Given the description of an element on the screen output the (x, y) to click on. 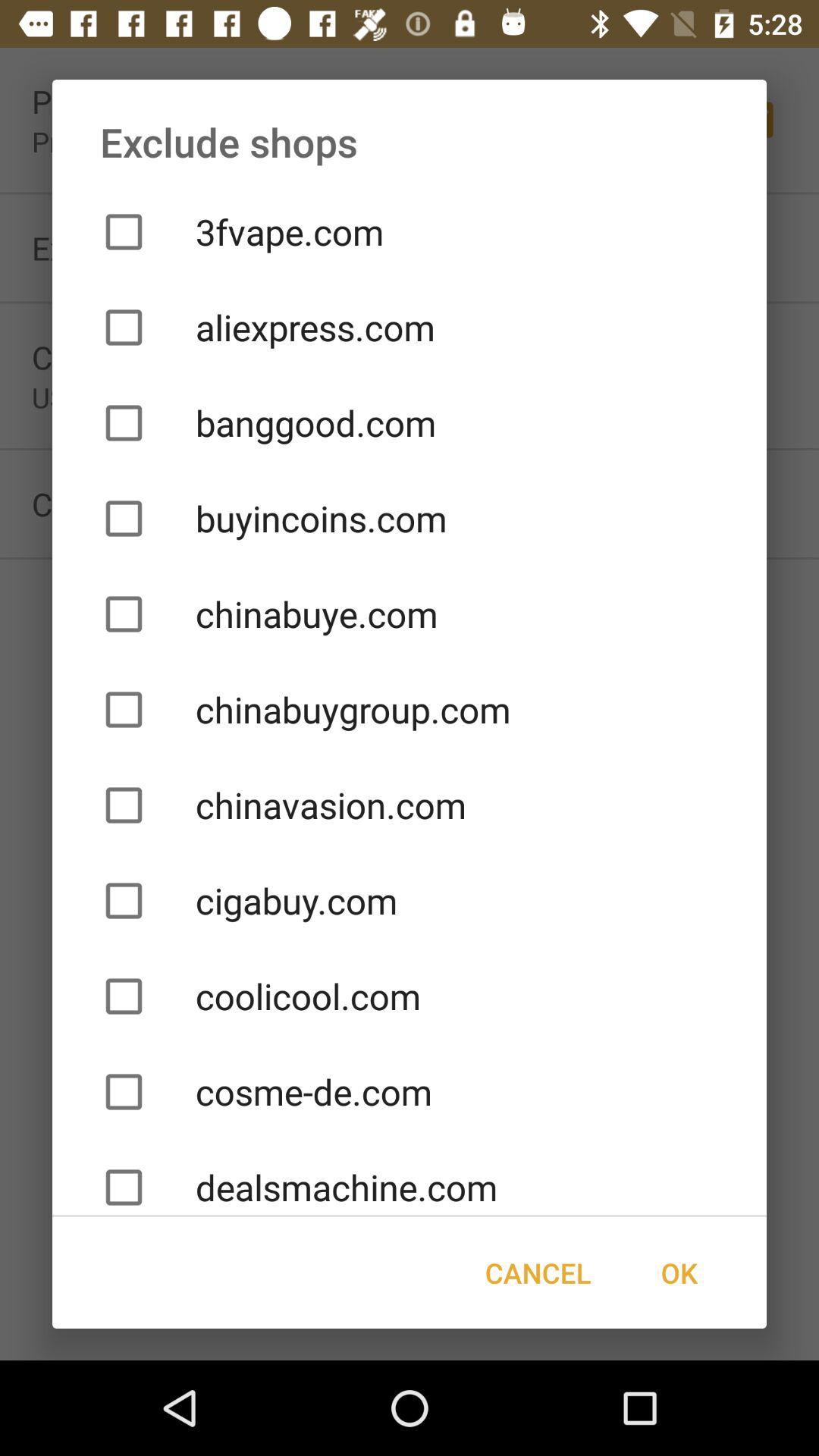
select the cancel button (538, 1272)
